Given the description of an element on the screen output the (x, y) to click on. 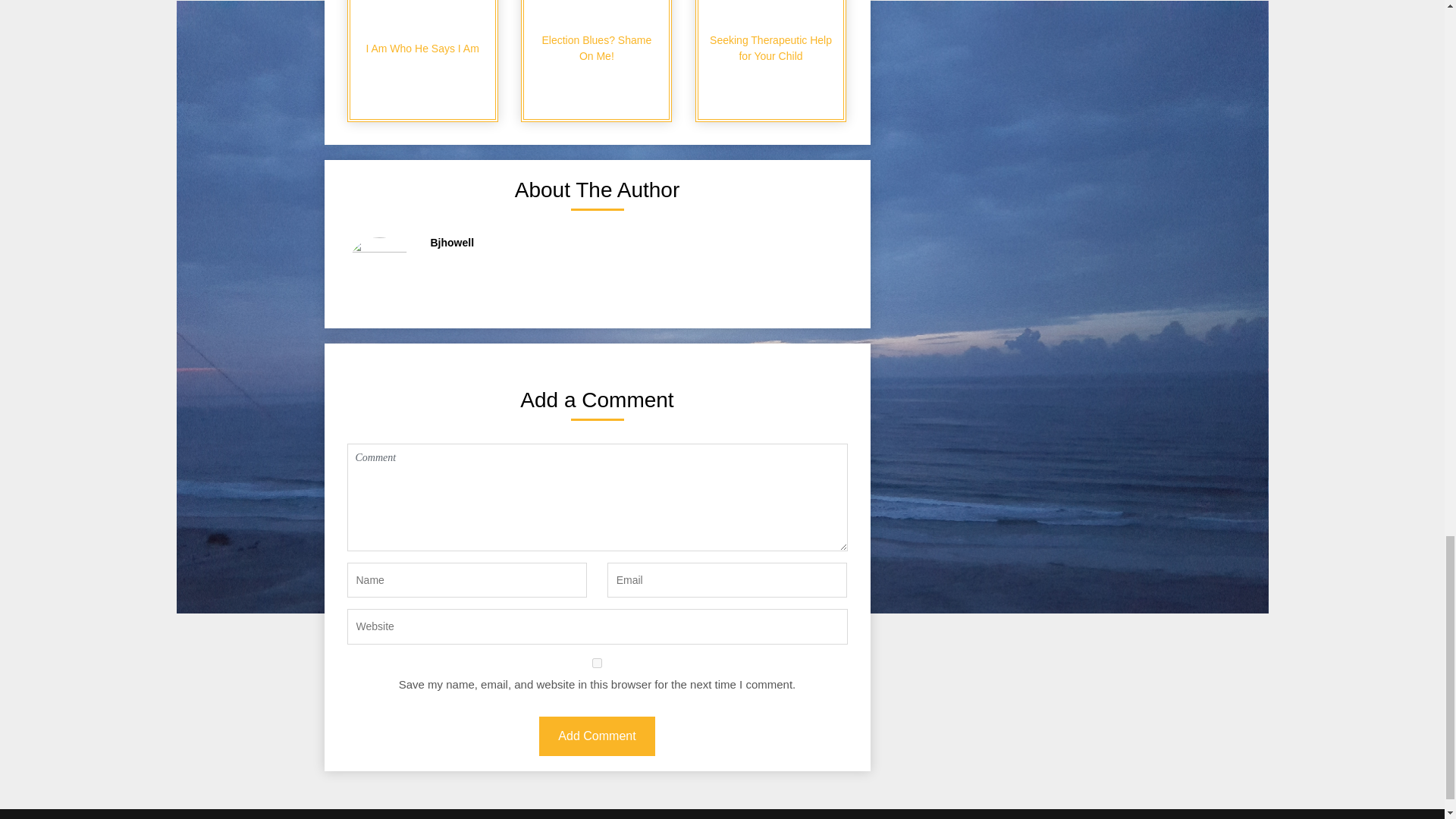
Add Comment (595, 736)
I Am Who He Says I Am (422, 61)
Seeking Therapeutic Help for Your Child (770, 61)
Election Blues? Shame On Me! (596, 61)
Add Comment (595, 736)
I Am Who He Says I Am (422, 61)
yes (597, 663)
Election Blues? Shame On Me! (596, 61)
Seeking Therapeutic Help for Your Child (770, 61)
